Given the description of an element on the screen output the (x, y) to click on. 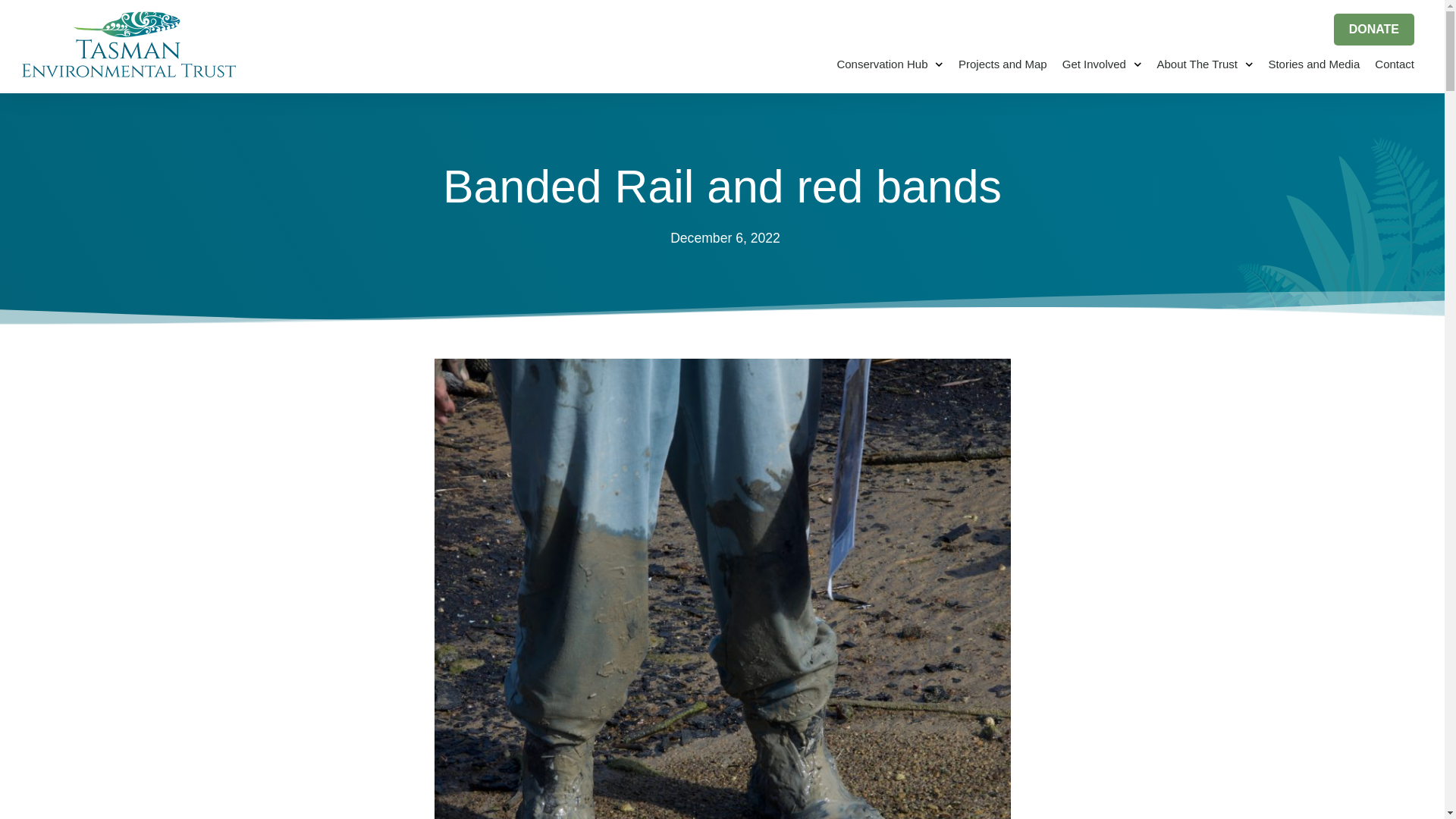
Stories and Media (1313, 64)
Conservation Hub (889, 64)
Get Involved (1101, 64)
About The Trust (1204, 64)
Projects and Map (1002, 64)
Contact (1393, 64)
DONATE (1373, 29)
